Given the description of an element on the screen output the (x, y) to click on. 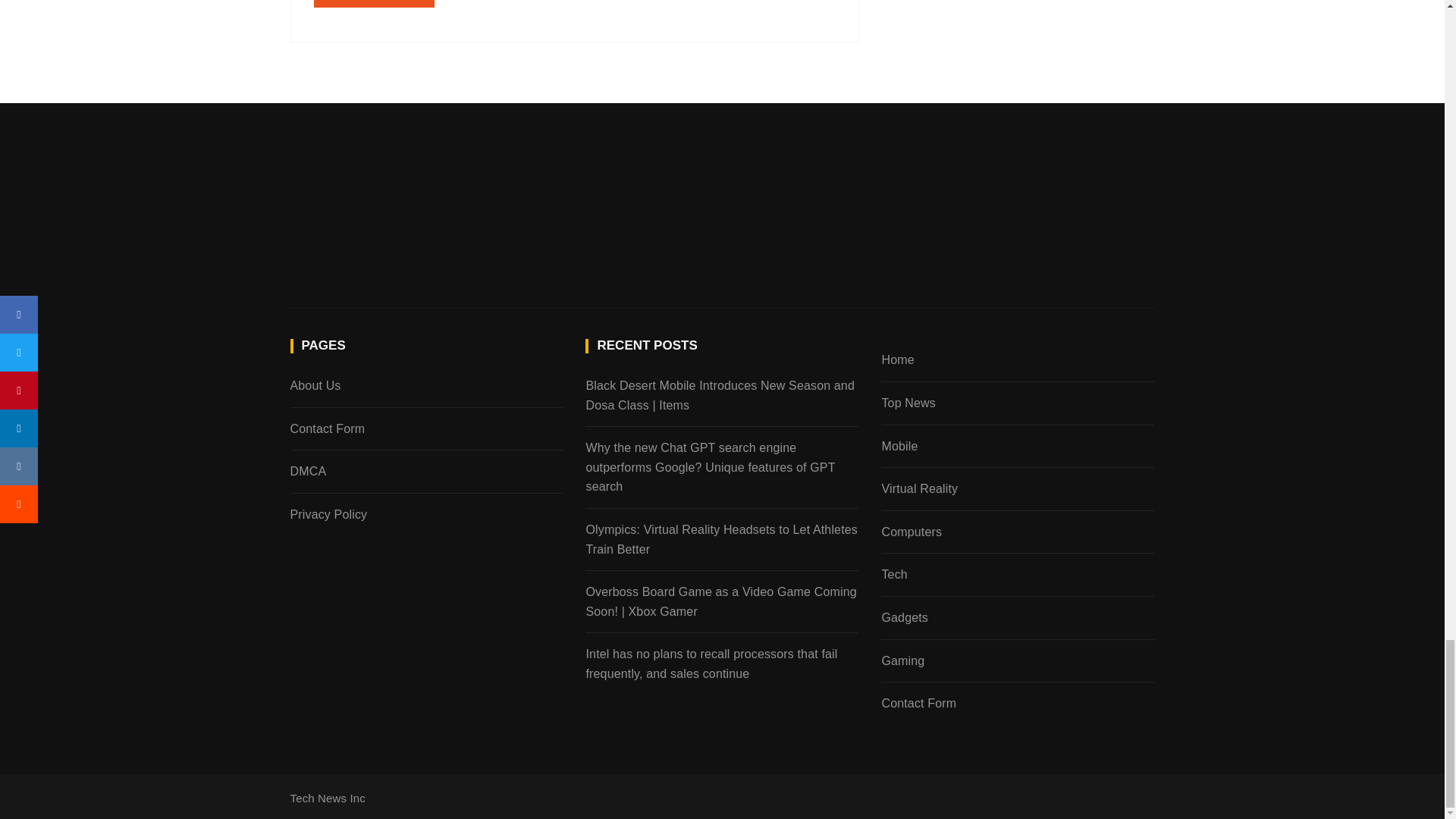
Post Comment (374, 3)
